Given the description of an element on the screen output the (x, y) to click on. 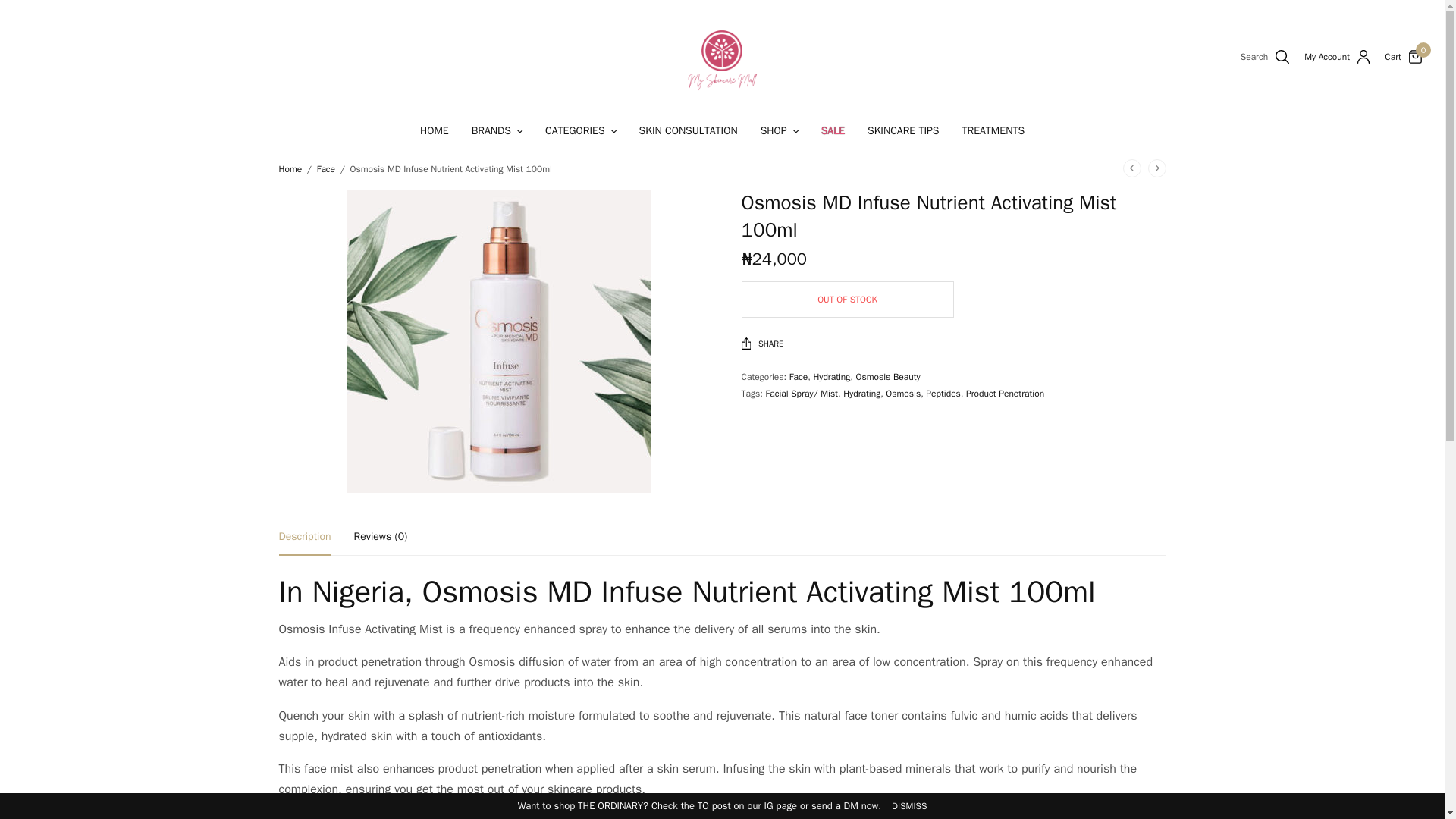
BRANDS (496, 130)
Cart (1392, 56)
My Account (1337, 56)
MYSKINCAREMALL (722, 56)
My Account (1337, 56)
Search (1260, 105)
HOME (434, 130)
Osmosis-MD-Infuse-Nutrient-Activating-Mist1 (498, 341)
